Given the description of an element on the screen output the (x, y) to click on. 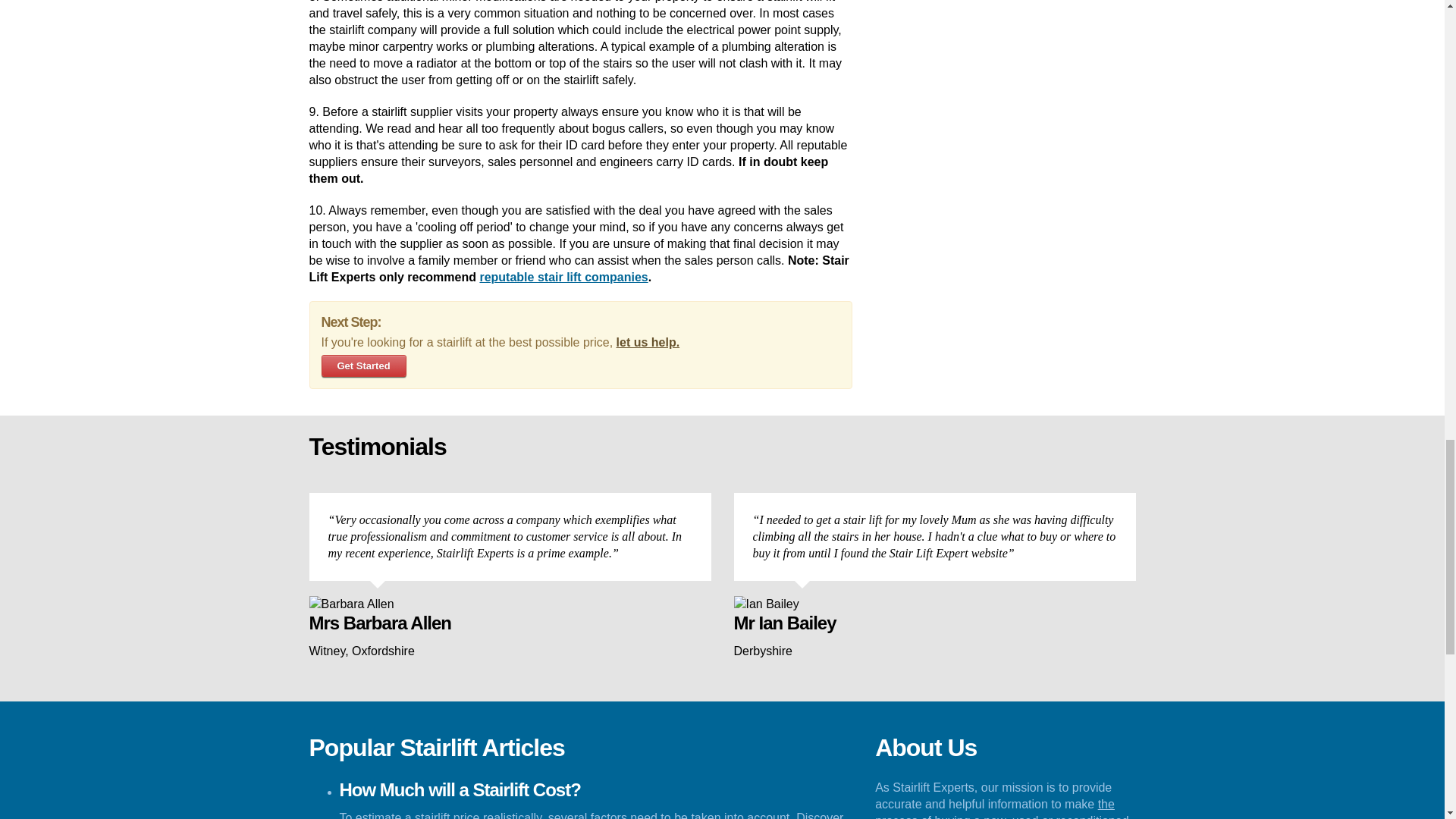
reputable stair lift companies (563, 277)
let us help. (647, 341)
the process (995, 808)
UK Stairlift Companies (563, 277)
Get Started (363, 365)
Discover the true cost of a stairlift (591, 815)
